Given the description of an element on the screen output the (x, y) to click on. 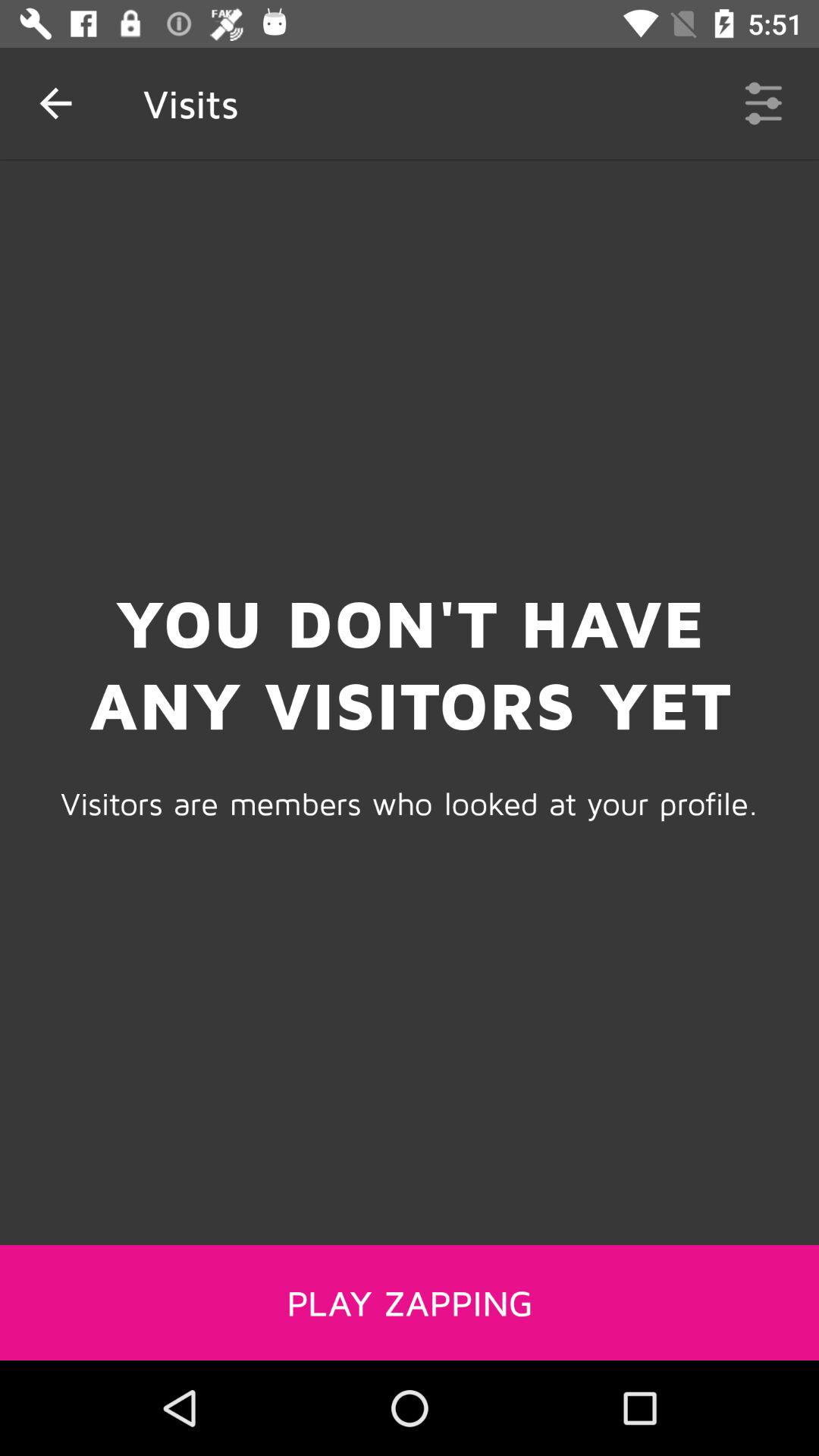
click item to the right of the visits item (763, 103)
